Given the description of an element on the screen output the (x, y) to click on. 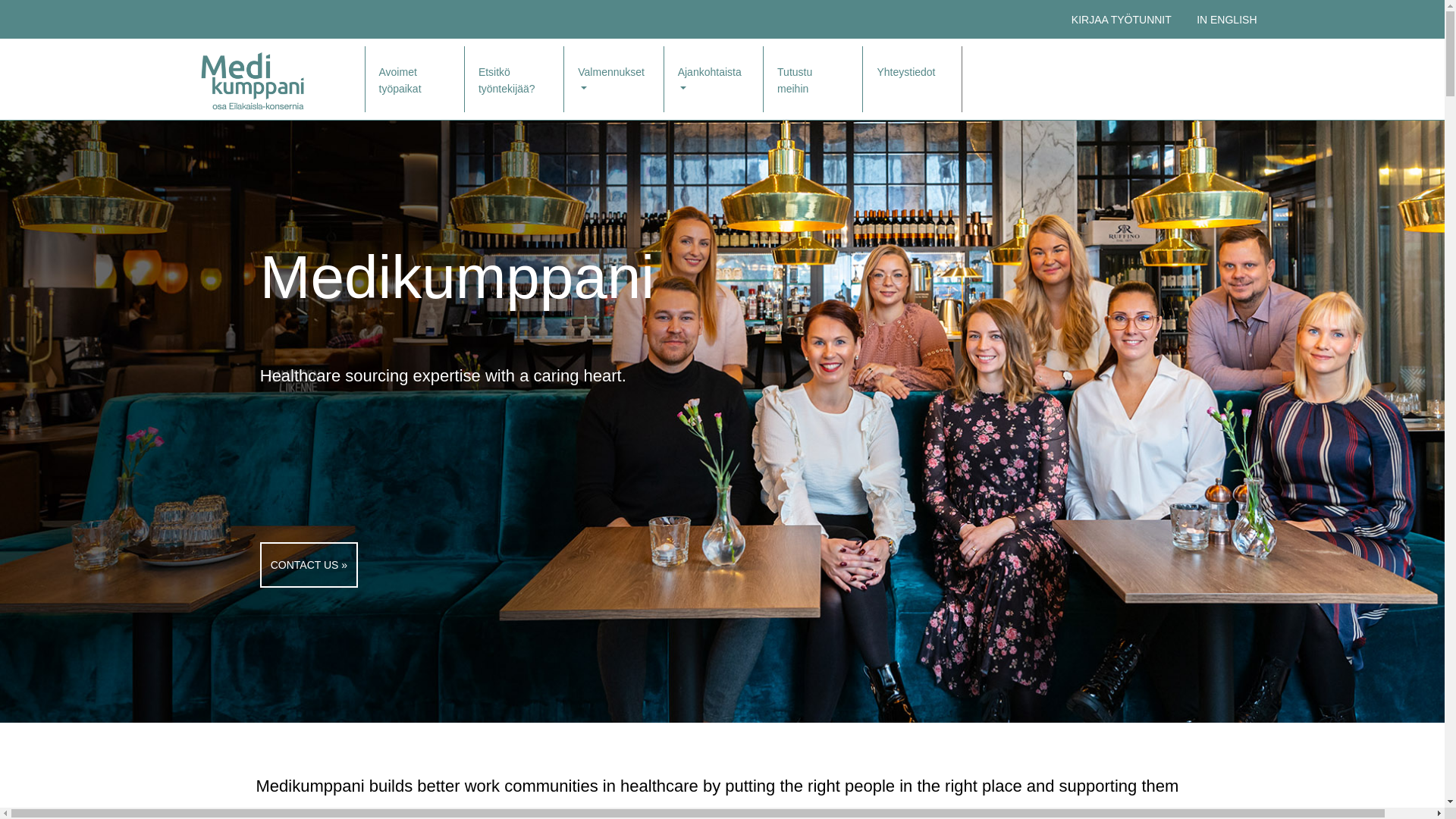
Valmennukset (613, 78)
Yhteystiedot (911, 78)
Ajankohtaista (712, 78)
Yhteystiedot (911, 78)
IN ENGLISH (1226, 19)
Valmennukset (613, 78)
Ajankohtaista (712, 78)
Tutustu meihin (811, 78)
Tutustu meihin (811, 78)
